Given the description of an element on the screen output the (x, y) to click on. 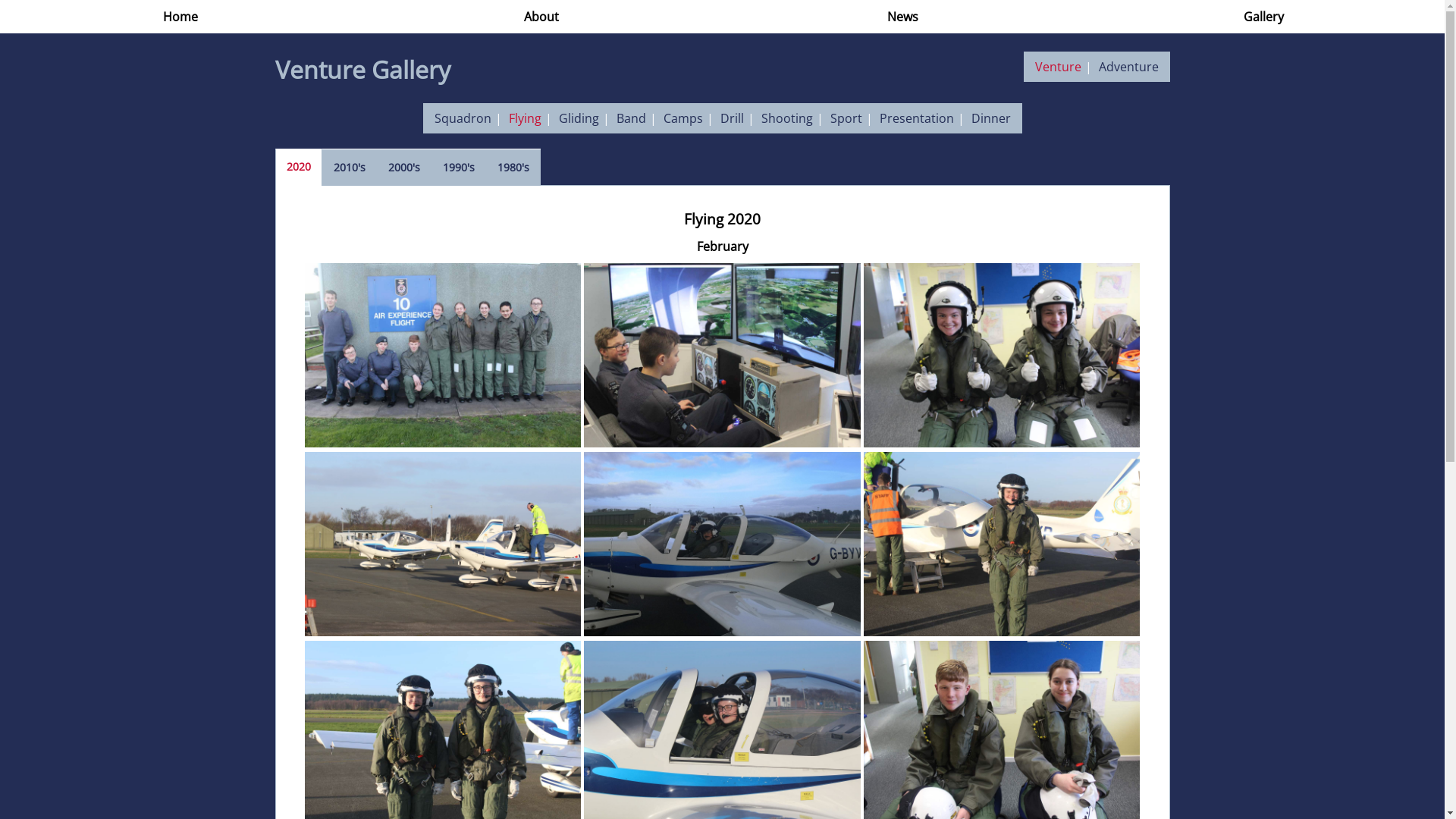
Squadron Element type: text (461, 117)
Gliding Element type: text (578, 117)
About Element type: text (541, 16)
Camps Element type: text (682, 117)
Band Element type: text (630, 117)
Adventure Element type: text (1127, 66)
Shooting Element type: text (786, 117)
Presentation Element type: text (916, 117)
Gallery Element type: text (1263, 16)
News Element type: text (902, 16)
Sport Element type: text (845, 117)
Home Element type: text (180, 16)
Drill Element type: text (731, 117)
Dinner Element type: text (990, 117)
